Given the description of an element on the screen output the (x, y) to click on. 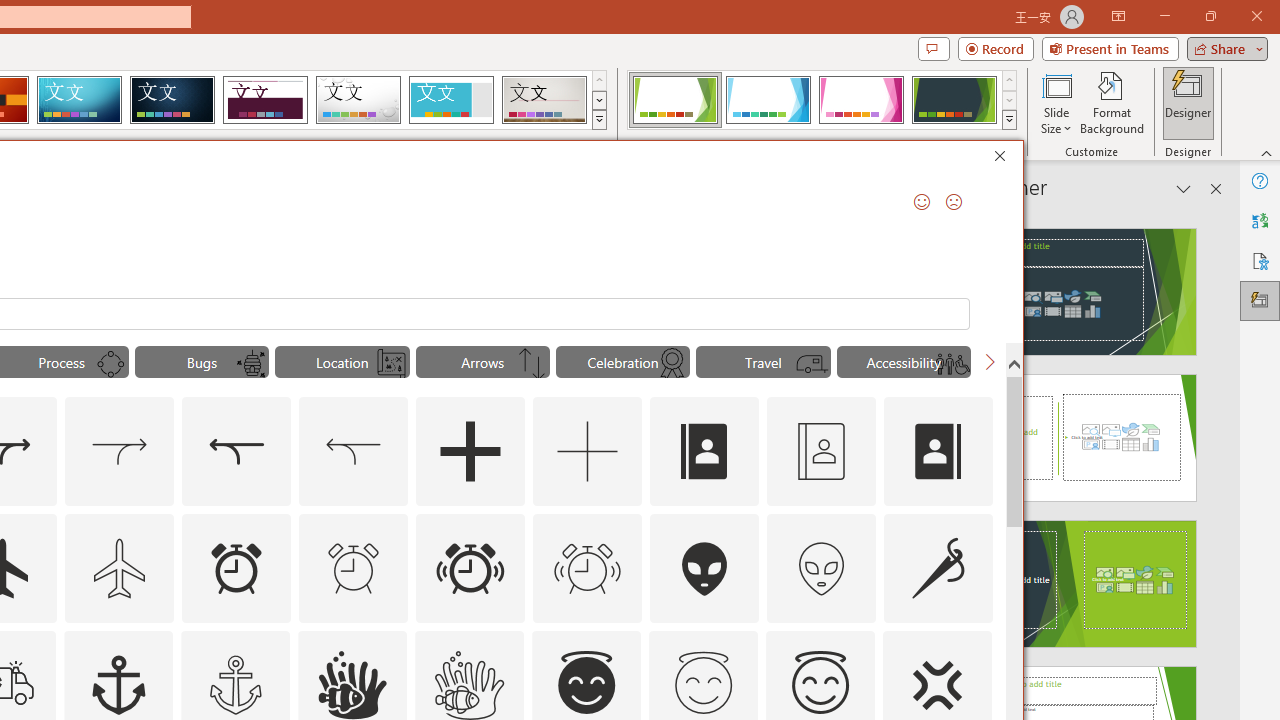
AutomationID: Icons_AddressBook_LTR (705, 452)
AutomationID: Icons_Acquisition_RTL (236, 452)
Facet Variant 2 (768, 100)
Facet Variant 3 (861, 100)
AutomationID: Icons (703, 683)
Facet Variant 4 (953, 100)
AutomationID: Icons_AddressBook_LTR_M (821, 452)
Send a Frown (954, 201)
AutomationID: Icons_AlienFace_M (821, 568)
Slide Size (1056, 102)
